Given the description of an element on the screen output the (x, y) to click on. 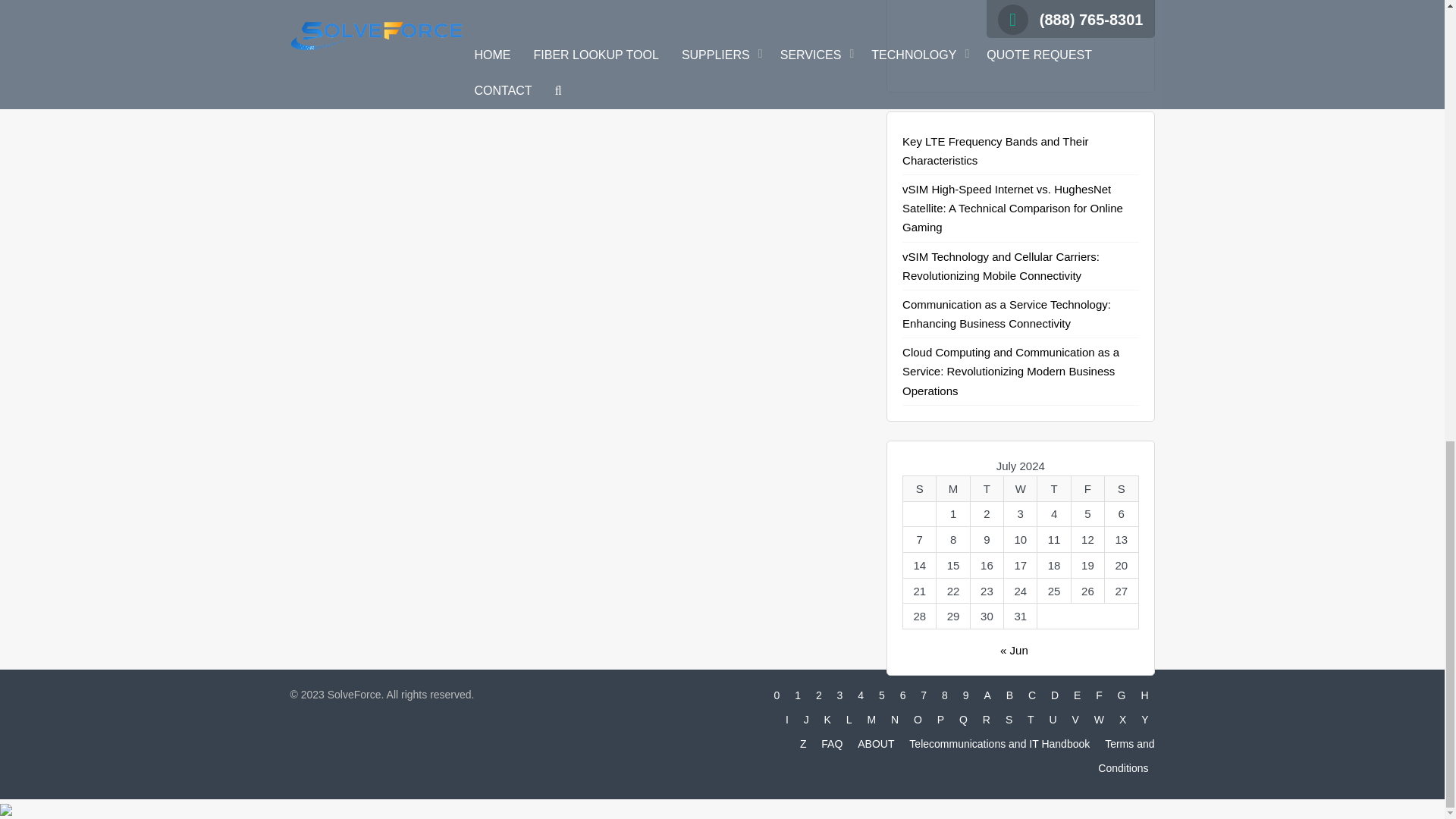
Wednesday (1020, 488)
Sunday (919, 488)
Monday (952, 488)
CarrierFinder (1020, 29)
Saturday (1121, 488)
Tuesday (986, 488)
Friday (1086, 488)
Thursday (1053, 488)
